Given the description of an element on the screen output the (x, y) to click on. 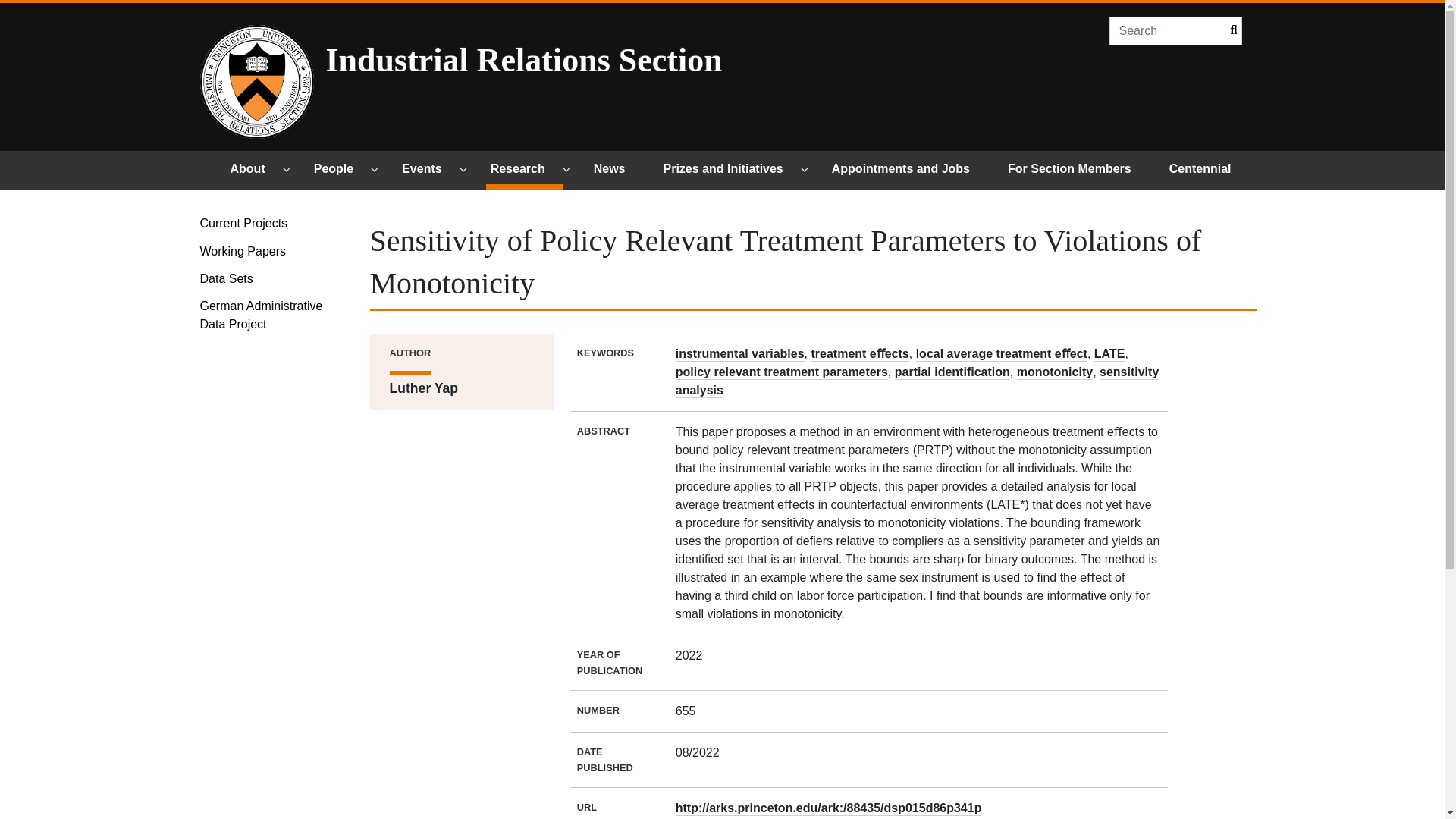
News (616, 169)
About (254, 169)
People (339, 169)
IRS Centennial Webiste (1206, 169)
Industrial Relations Section (599, 60)
Prizes and Initiatives (729, 169)
Home (257, 81)
Home (599, 60)
Accepting applications for scholars and staff (907, 169)
Events (428, 169)
Private content fo Section members (1076, 169)
Submit (1229, 30)
Research (524, 169)
